Given the description of an element on the screen output the (x, y) to click on. 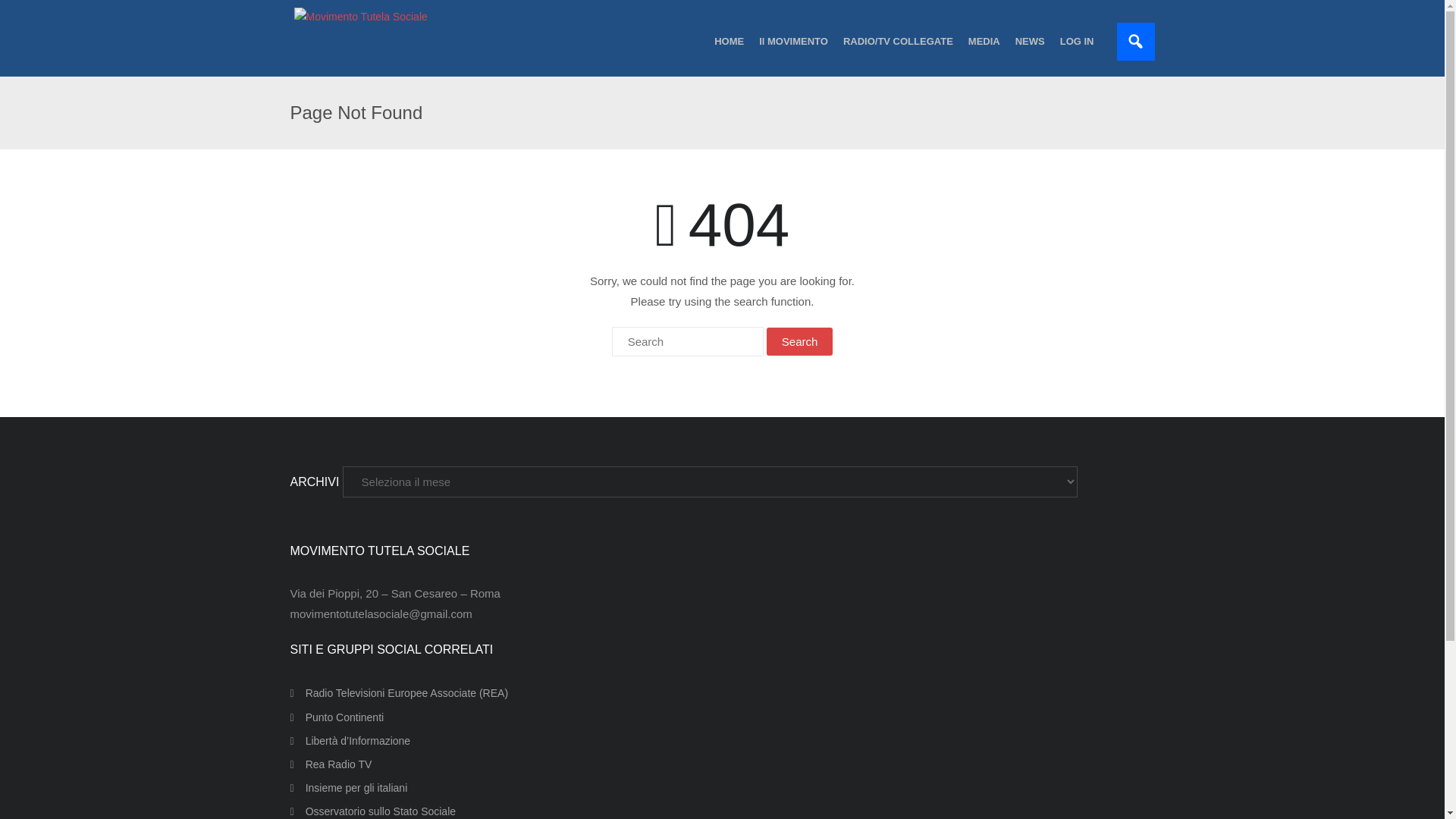
Insieme per gli italiani (348, 788)
Search (799, 341)
Punto Continenti (336, 717)
Osservatorio sullo Stato Sociale (372, 810)
Search (29, 12)
Il MOVIMENTO (793, 40)
Search (799, 341)
Search (799, 341)
Rea Radio TV (330, 764)
